Given the description of an element on the screen output the (x, y) to click on. 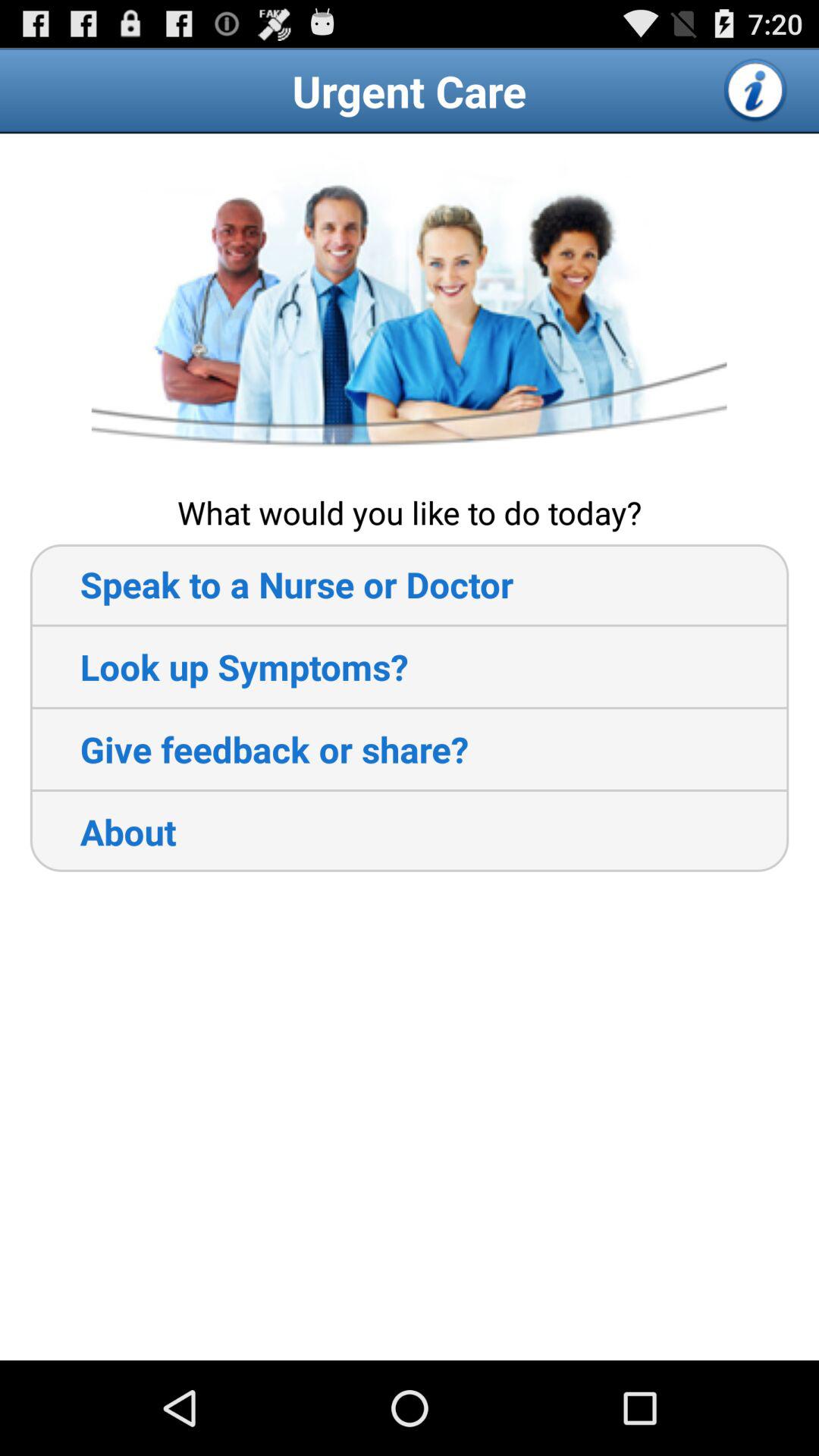
scroll until the look up symptoms? app (219, 666)
